Given the description of an element on the screen output the (x, y) to click on. 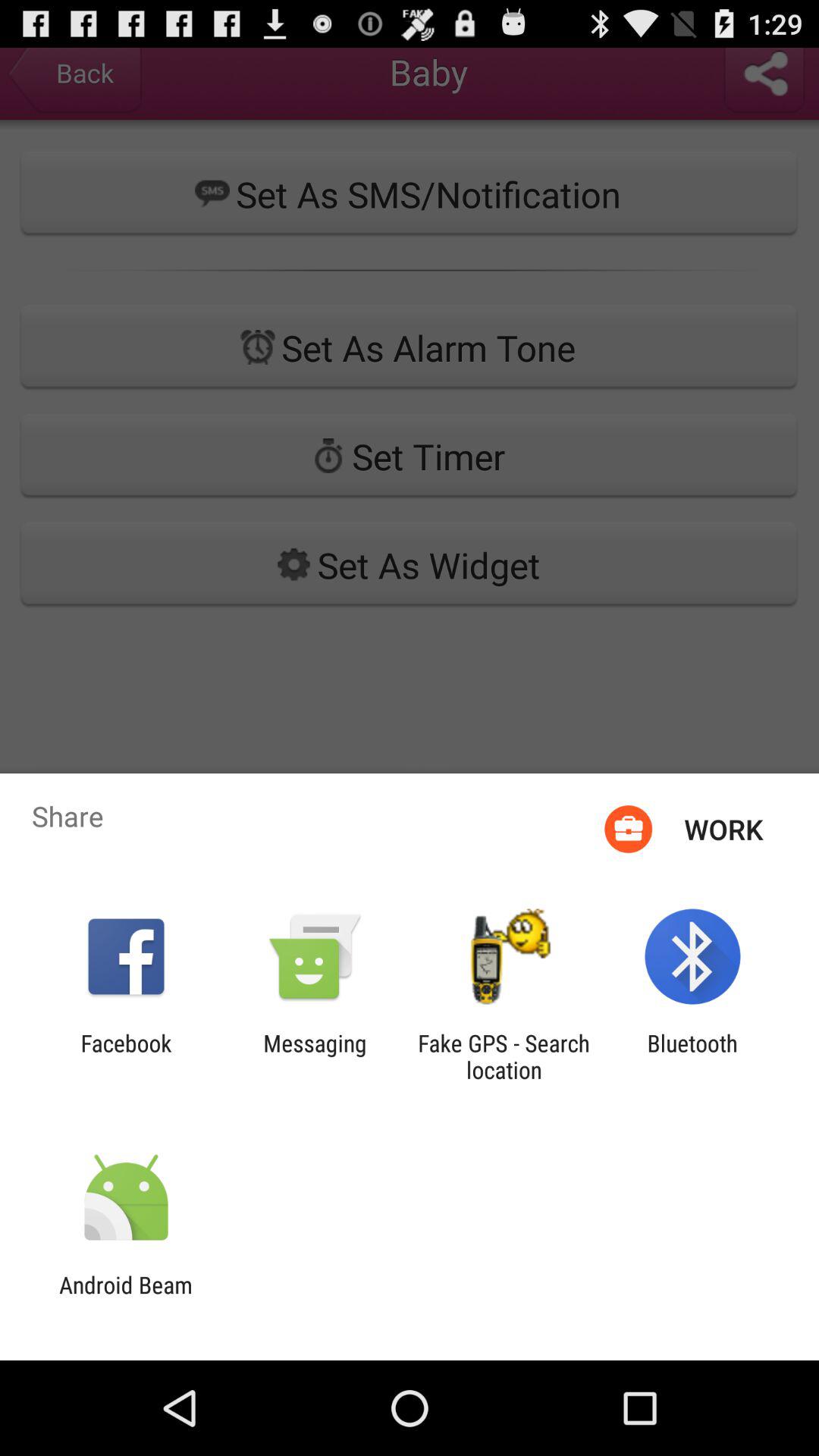
open the icon to the left of bluetooth item (503, 1056)
